Given the description of an element on the screen output the (x, y) to click on. 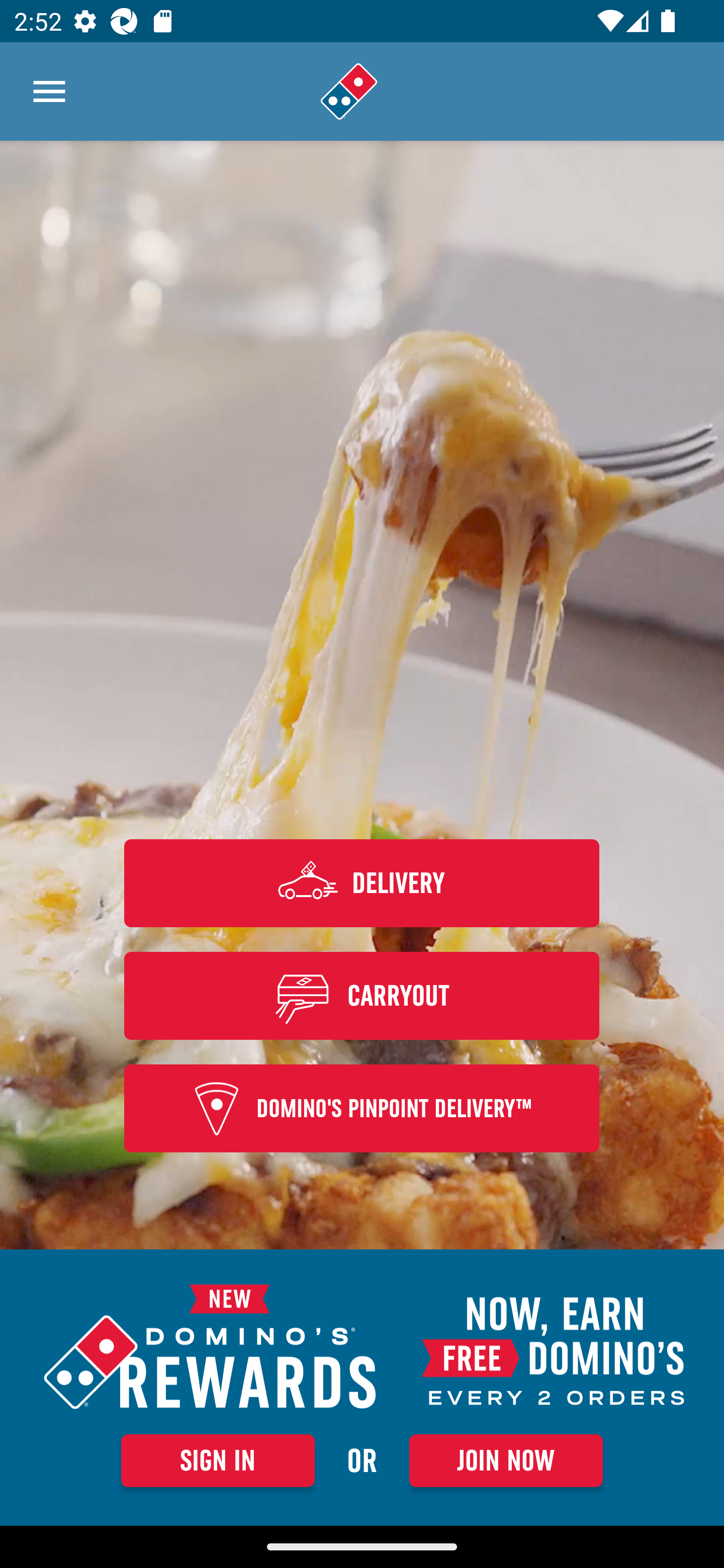
Expand Menu (49, 91)
DELIVERY (361, 882)
CARRYOUT (361, 995)
DOMINO'S PINPOINT DELIVERY™ (361, 1108)
SIGN IN (217, 1460)
JOIN NOW (506, 1460)
